Given the description of an element on the screen output the (x, y) to click on. 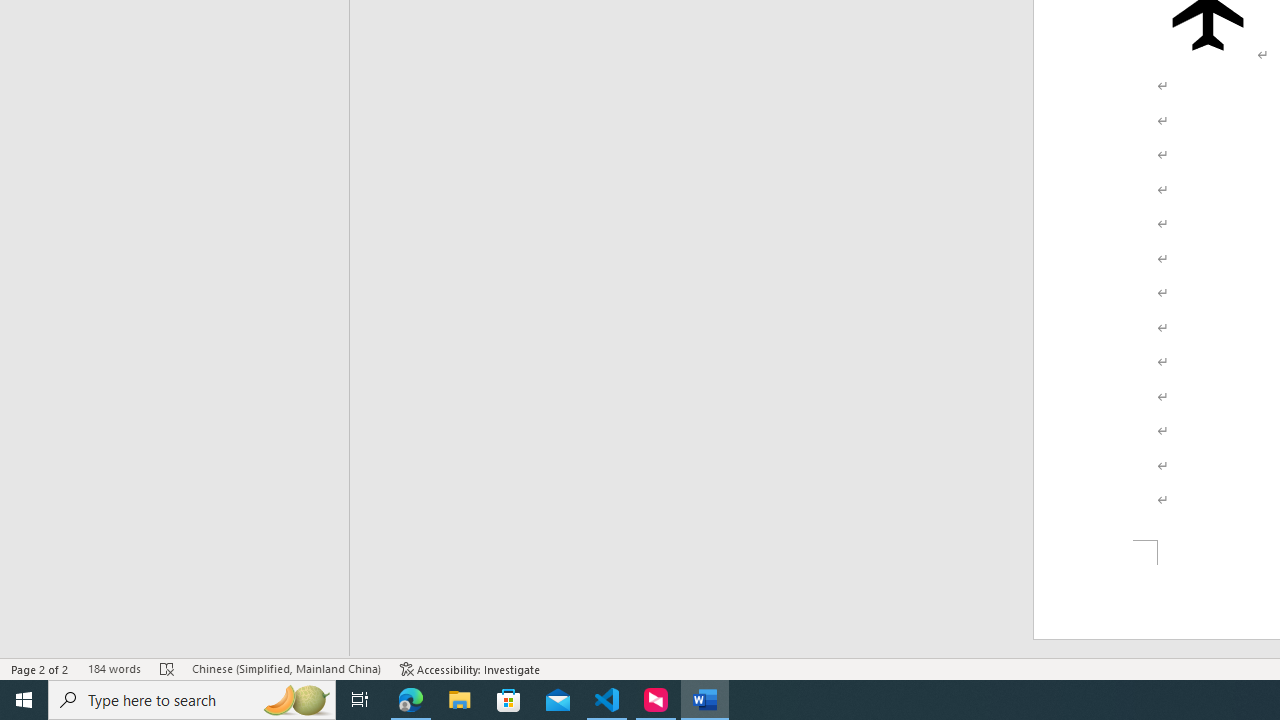
Page Number Page 2 of 2 (39, 668)
Word Count 184 words (113, 668)
